Given the description of an element on the screen output the (x, y) to click on. 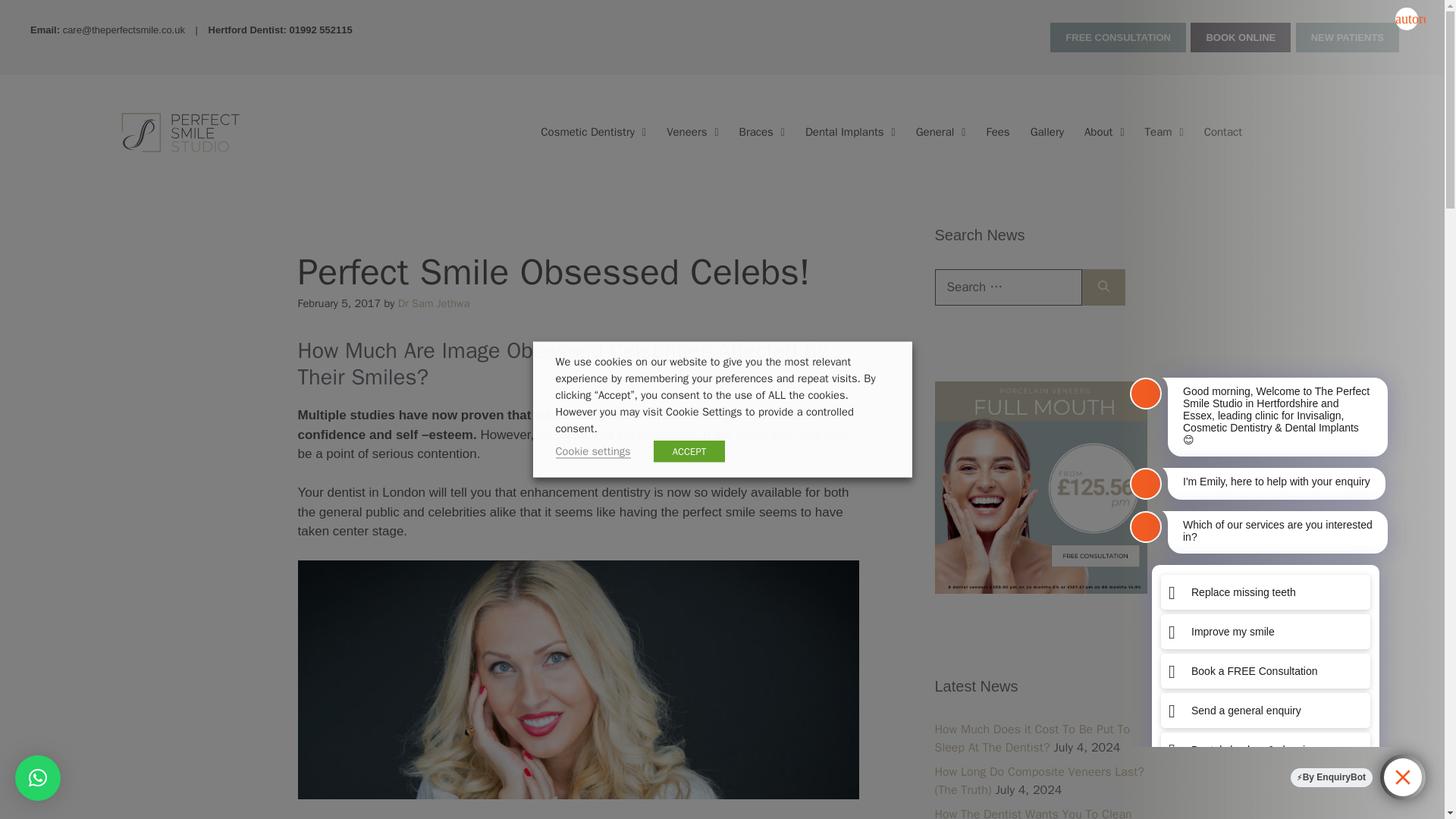
Search for: (1007, 287)
General (941, 131)
NEW PATIENTS (1347, 37)
FREE CONSULTATION (1117, 37)
Fees (997, 131)
01992 552115 (320, 30)
Veneers (692, 131)
Dental Implants (849, 131)
Cosmetic Dentistry (592, 131)
BOOK ONLINE (1240, 37)
Braces (762, 131)
Hertford Dentist: (248, 30)
View all posts by Dr Sam Jethwa (433, 303)
